Given the description of an element on the screen output the (x, y) to click on. 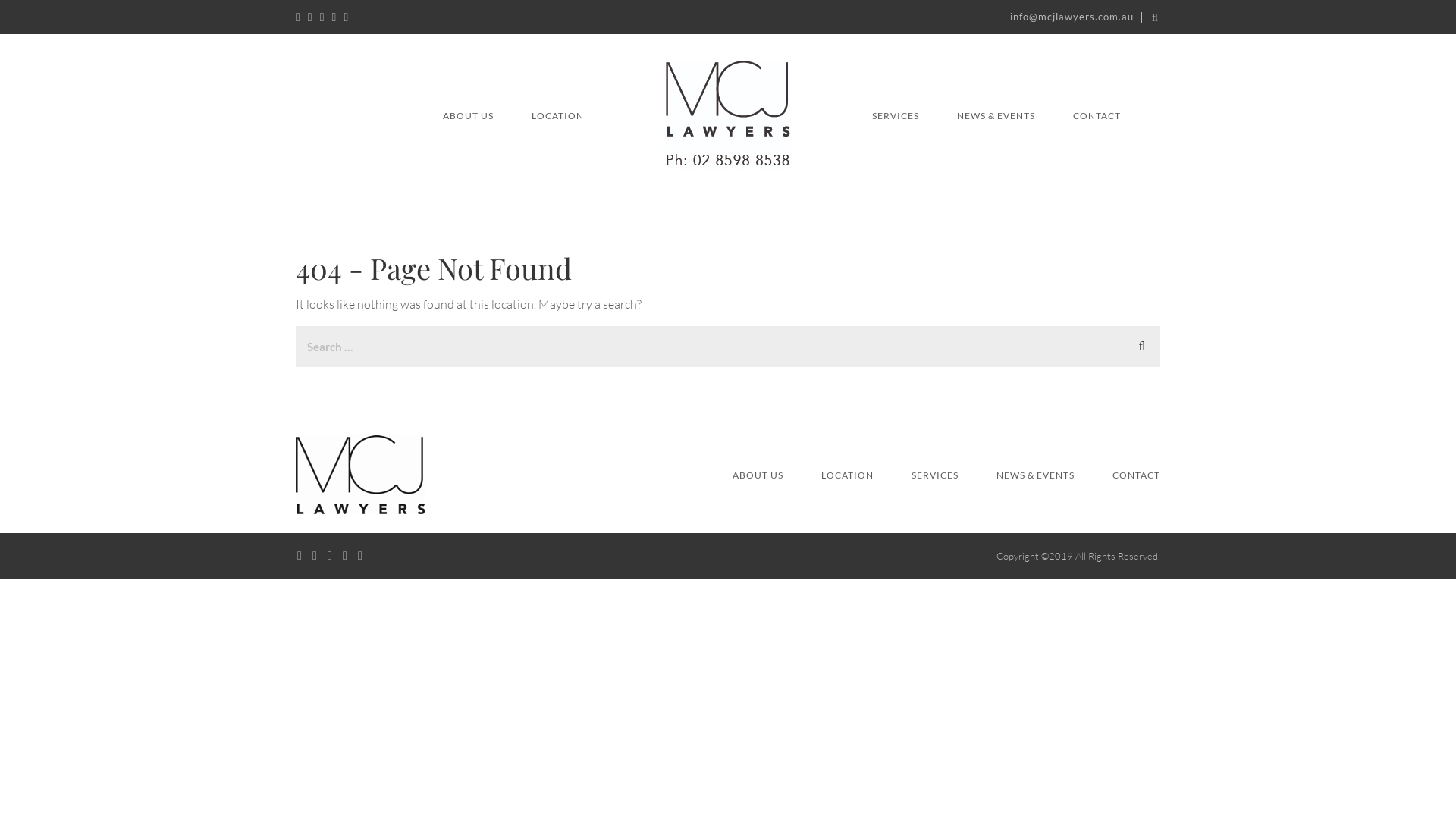
NEWS & EVENTS Element type: text (996, 115)
LOCATION Element type: text (557, 115)
Search Element type: text (1141, 343)
CONTACT Element type: text (1096, 115)
LOCATION Element type: text (847, 475)
SERVICES Element type: text (934, 475)
ABOUT US Element type: text (467, 115)
SERVICES Element type: text (895, 115)
CONTACT Element type: text (1136, 475)
ABOUT US Element type: text (757, 475)
NEWS & EVENTS Element type: text (1035, 475)
